Given the description of an element on the screen output the (x, y) to click on. 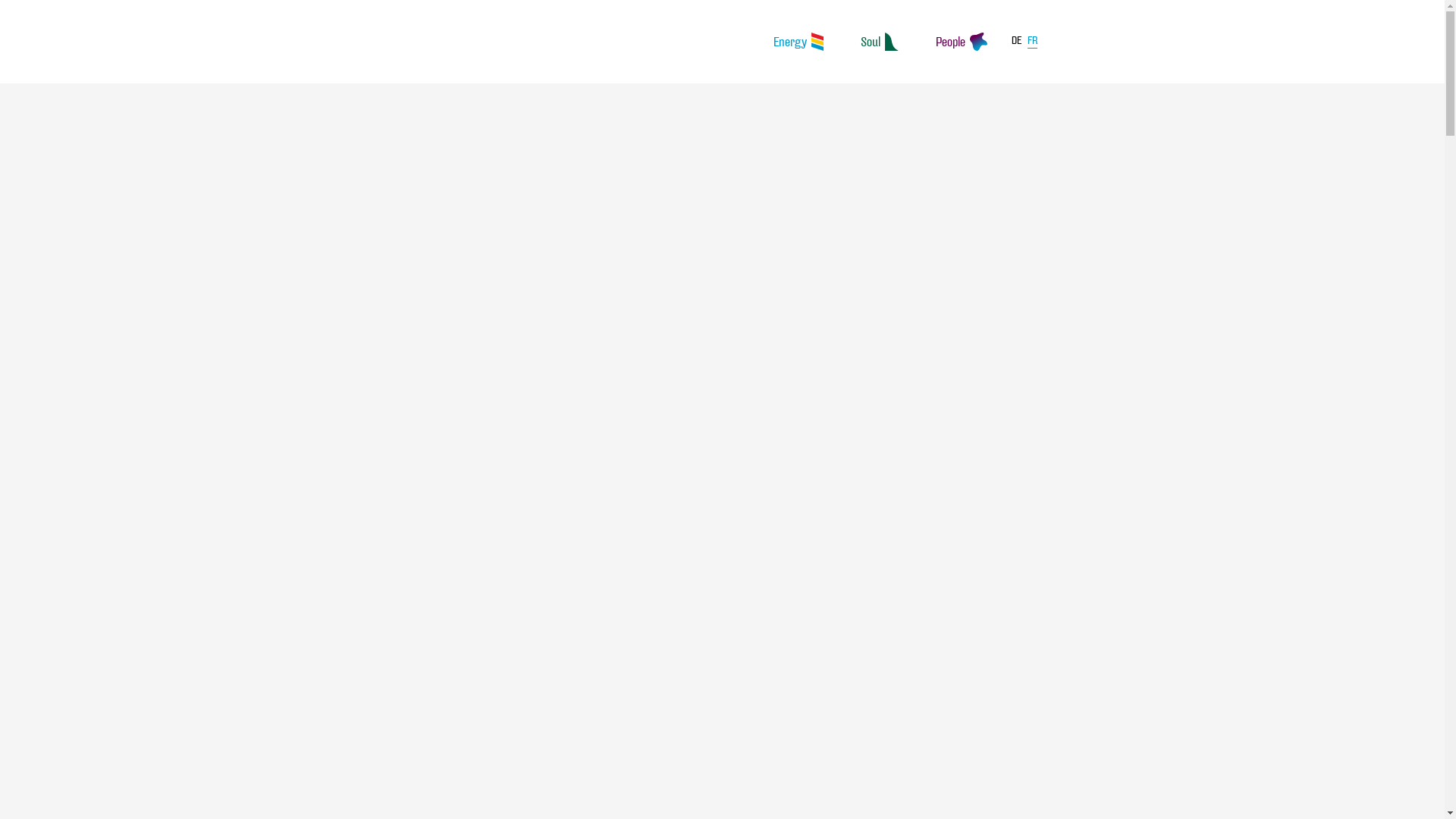
DE Element type: text (1016, 40)
FR Element type: text (1031, 42)
Energy Element type: text (798, 41)
People Element type: text (961, 41)
Soul Element type: text (879, 41)
